Given the description of an element on the screen output the (x, y) to click on. 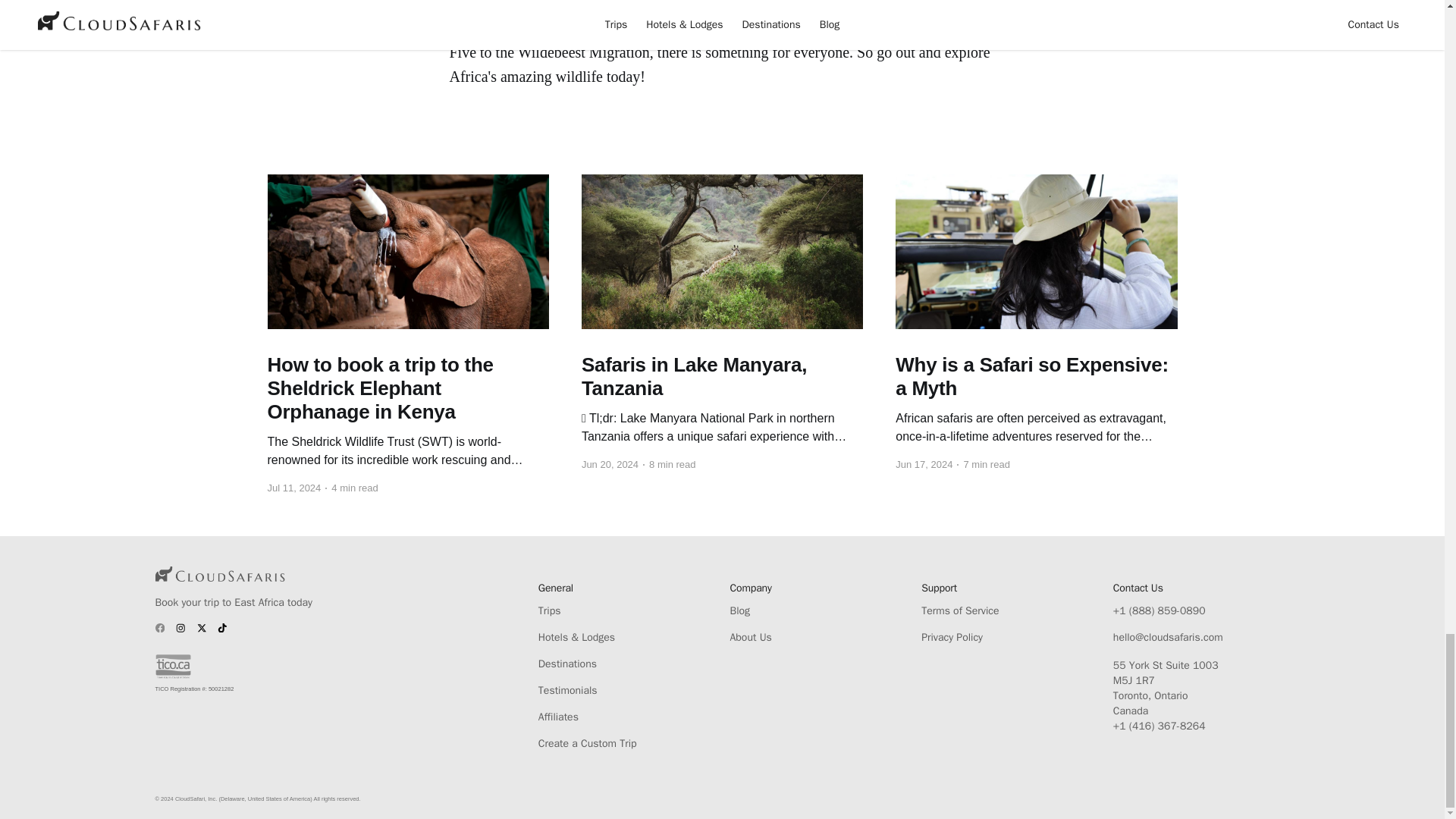
Destinations (626, 663)
Create a Custom Trip (626, 743)
Trips (626, 610)
Blog (817, 610)
X (201, 628)
Testimonials (626, 690)
Terms of Service (1009, 610)
Affiliates (626, 716)
Instagram (181, 628)
